Given the description of an element on the screen output the (x, y) to click on. 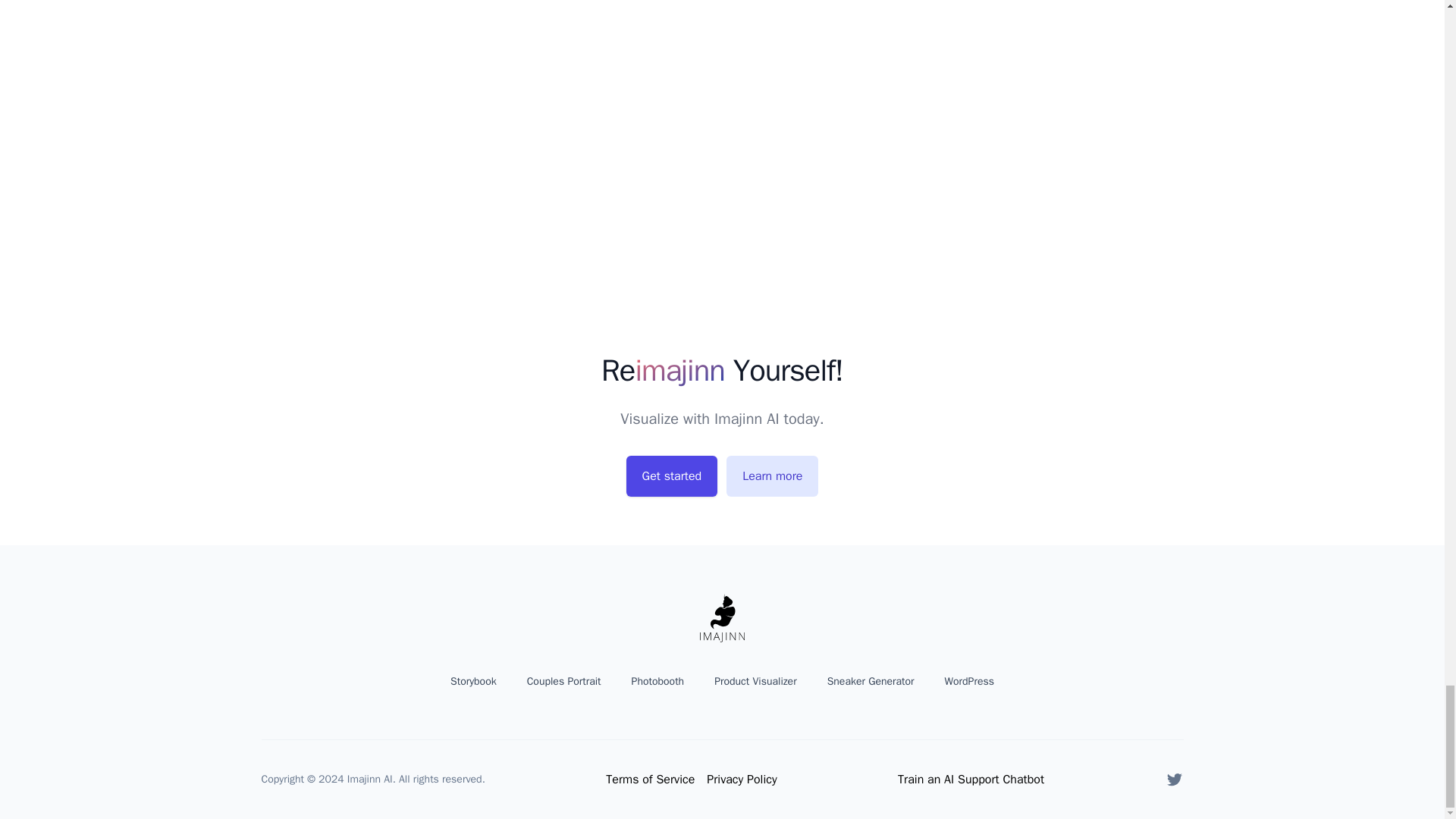
Privacy Policy (741, 779)
Learn more (772, 475)
Sneaker Generator (870, 681)
Couples Portrait (564, 681)
Photobooth (658, 681)
Terms of Service (649, 779)
Get started (671, 475)
Product Visualizer (754, 681)
Train an AI Support Chatbot (970, 779)
WordPress (969, 681)
Storybook (473, 681)
